Given the description of an element on the screen output the (x, y) to click on. 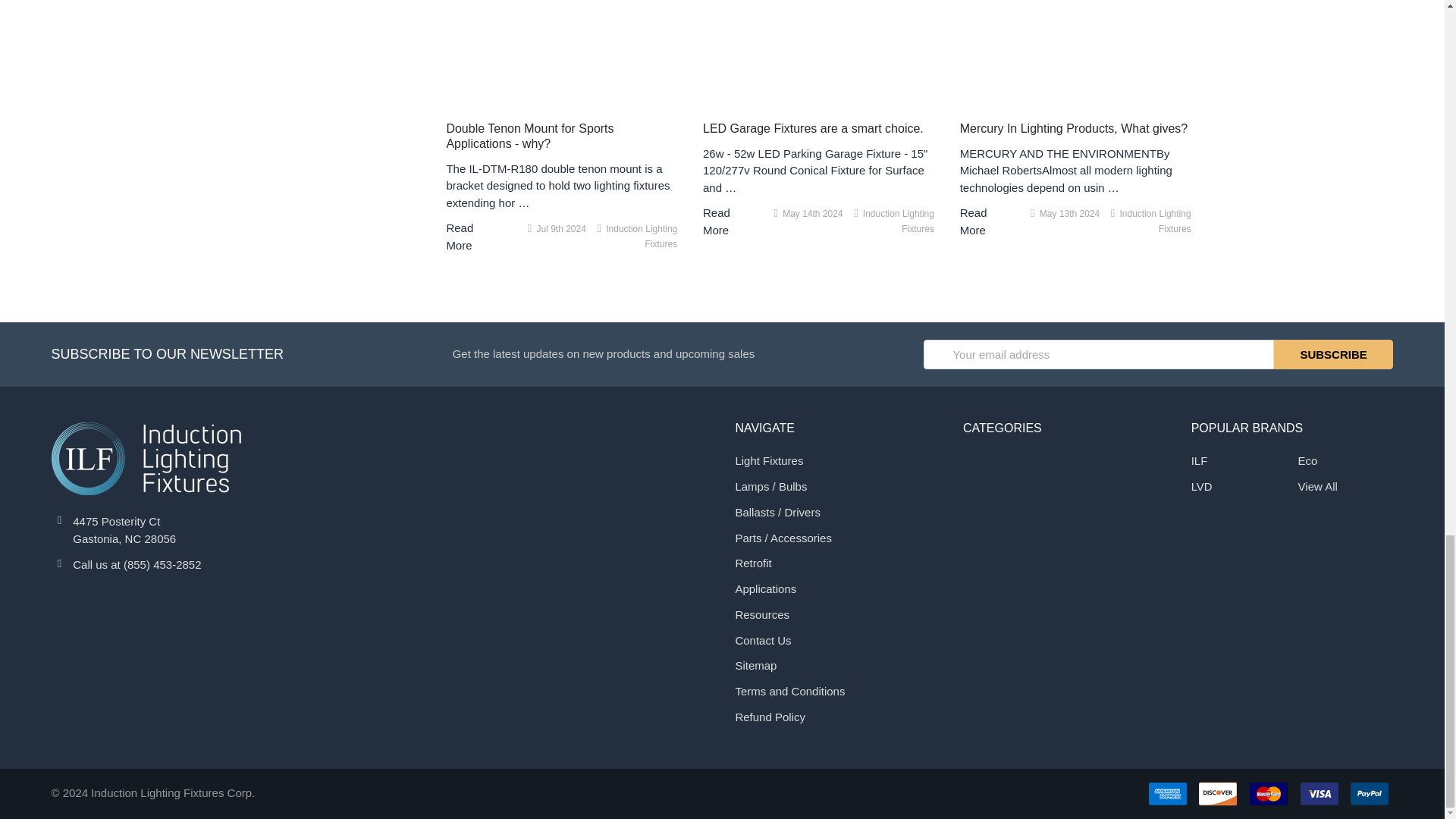
Double Tenon Mount for Sports Applications - why? (561, 52)
LED Garage Fixtures are a smart choice. (818, 52)
Mercury In Lighting Products, What gives? (1075, 52)
Subscribe (1333, 354)
Induction Lighting Fixtures Corp (145, 458)
